Given the description of an element on the screen output the (x, y) to click on. 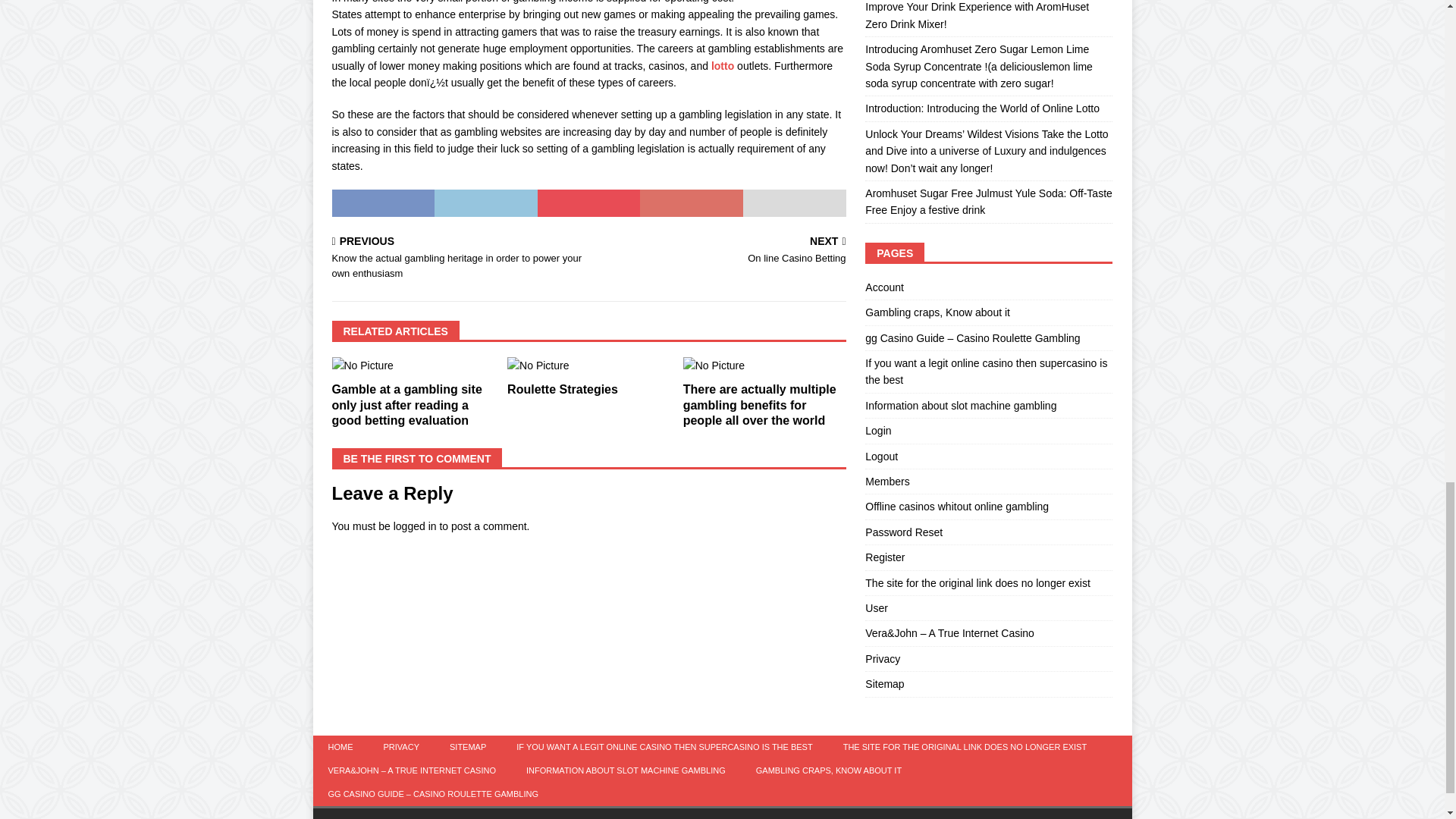
Roulette Strategies (561, 389)
lotto (722, 65)
